Given the description of an element on the screen output the (x, y) to click on. 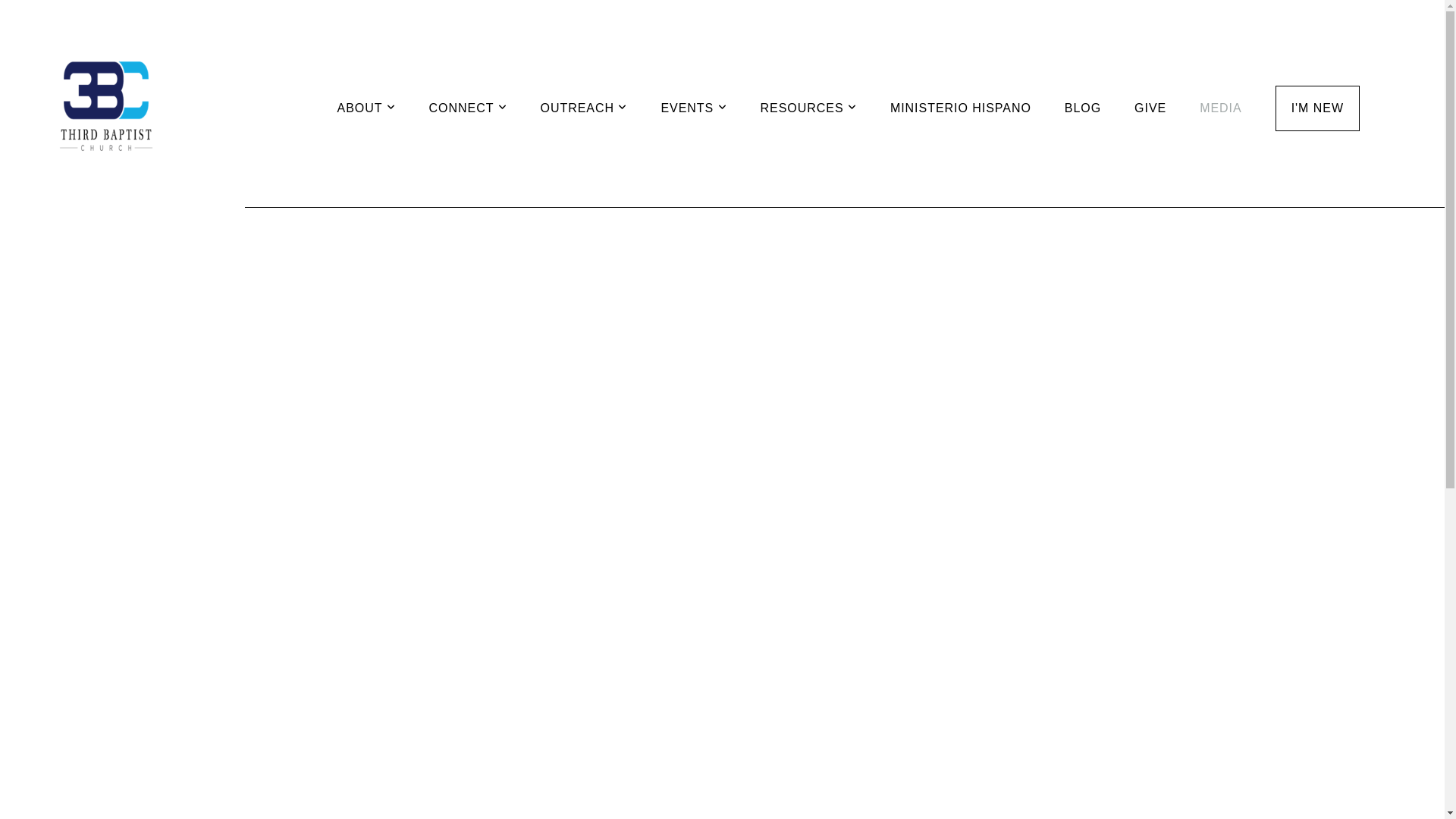
CONNECT  Element type: text (468, 108)
EVENTS  Element type: text (693, 108)
ABOUT  Element type: text (366, 108)
BLOG Element type: text (1082, 108)
I'M NEW Element type: text (1317, 107)
MEDIA Element type: text (1220, 108)
OUTREACH  Element type: text (584, 108)
GIVE Element type: text (1150, 108)
MINISTERIO HISPANO Element type: text (960, 108)
RESOURCES  Element type: text (808, 108)
